Given the description of an element on the screen output the (x, y) to click on. 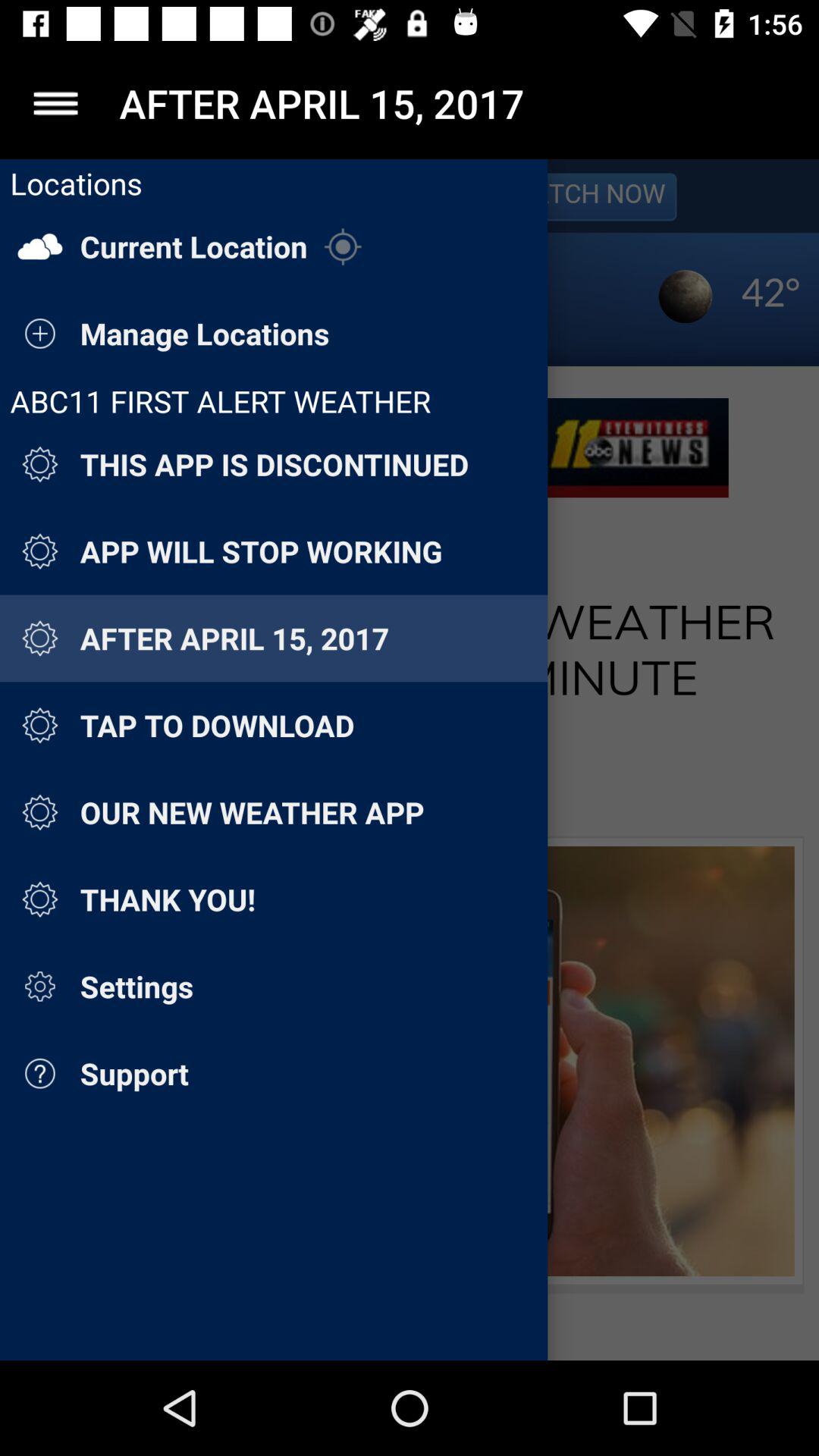
open app to the left of after april 15 item (55, 103)
